Given the description of an element on the screen output the (x, y) to click on. 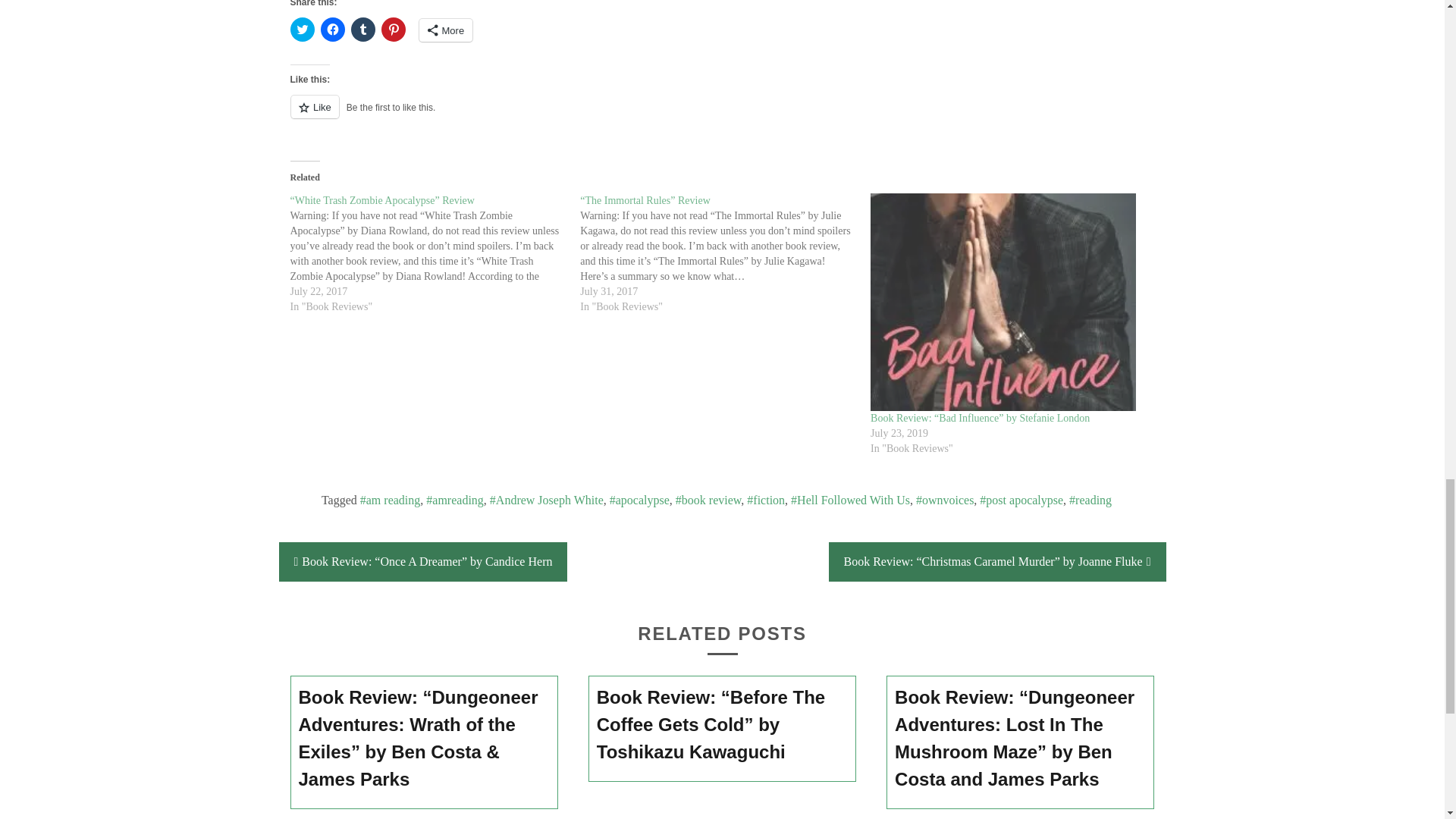
Click to share on Twitter (301, 29)
More (445, 29)
Like or Reblog (721, 115)
Click to share on Facebook (331, 29)
Click to share on Tumblr (362, 29)
Click to share on Pinterest (392, 29)
